Given the description of an element on the screen output the (x, y) to click on. 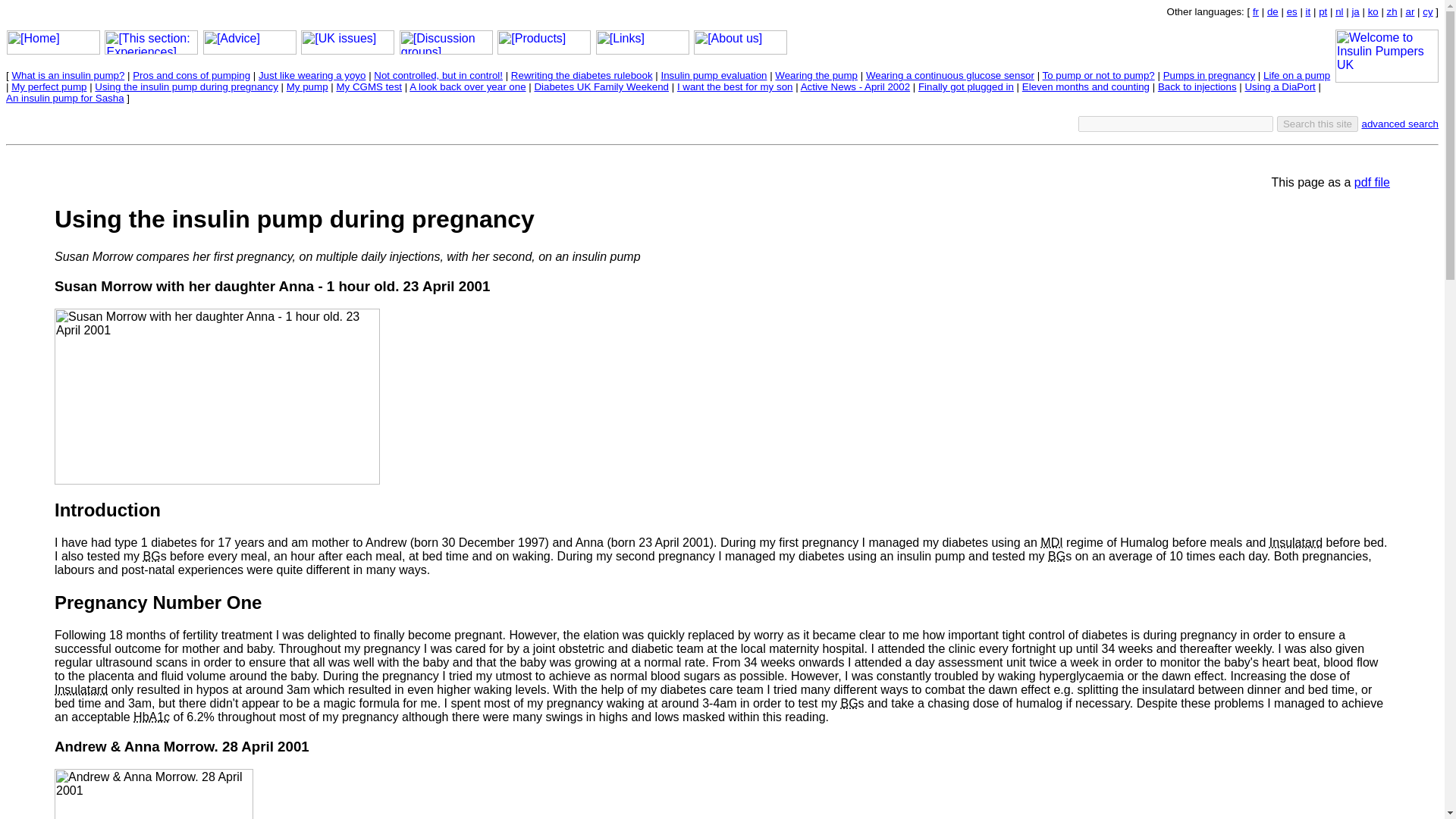
In simplified Chinese (1392, 11)
Auf Deutsch (1272, 11)
In Korean (1373, 11)
What is an insulin pump? (67, 75)
ko (1373, 11)
es (1292, 11)
Diabetes UK Family Weekend (601, 86)
Insulin pump evaluation (714, 75)
To pump or not to pump? (1098, 75)
Wearing the pump (815, 75)
